Given the description of an element on the screen output the (x, y) to click on. 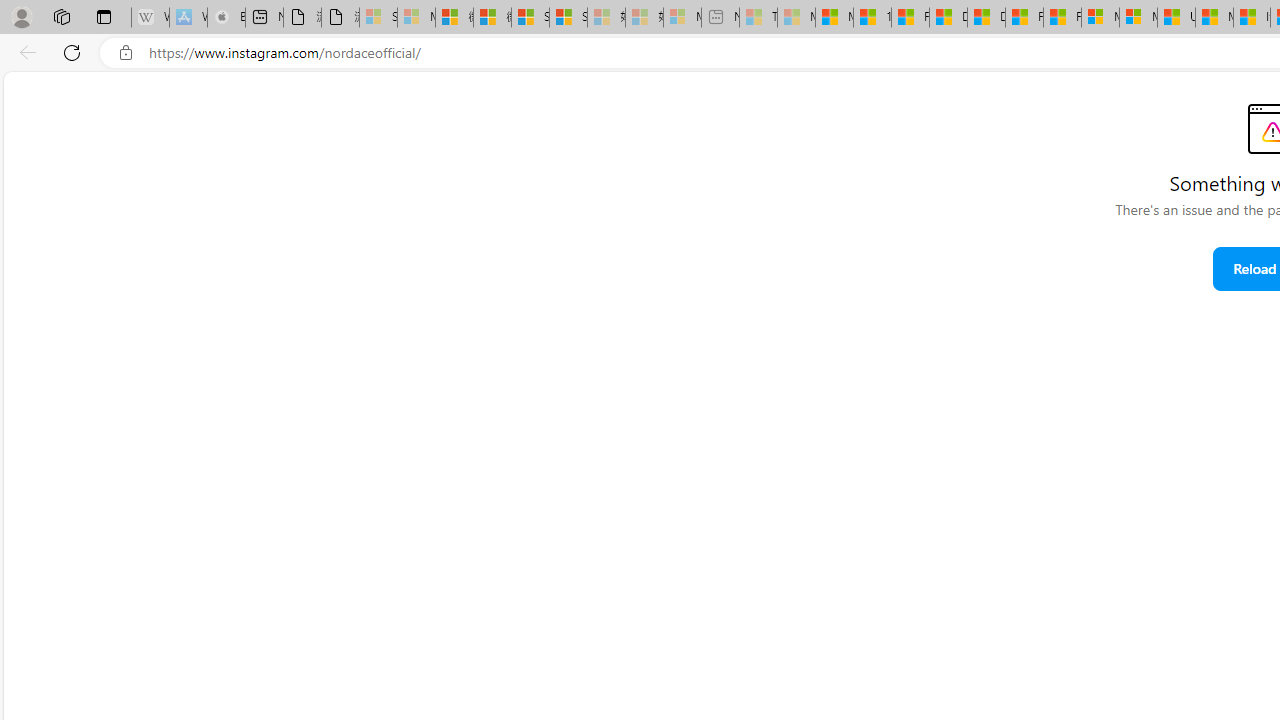
Food and Drink - MSN (910, 17)
Drinking tea every day is proven to delay biological aging (985, 17)
Microsoft account | Account Checkup - Sleeping (682, 17)
Marine life - MSN - Sleeping (796, 17)
